Given the description of an element on the screen output the (x, y) to click on. 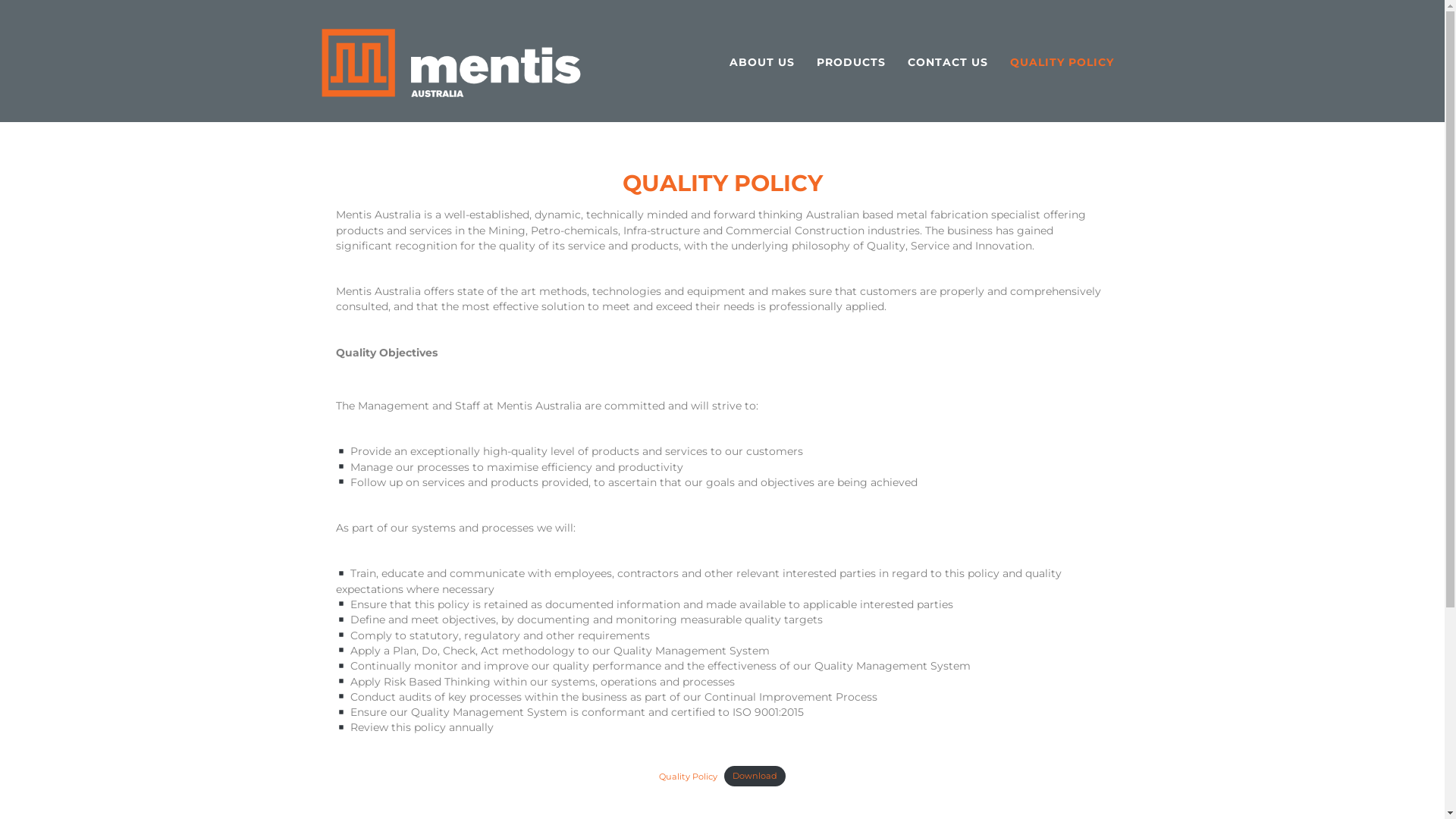
QUALITY POLICY Element type: text (1061, 61)
CONTACT US Element type: text (946, 61)
Mentis Australia - White Wordiing 500x138 Element type: hover (450, 62)
PRODUCTS Element type: text (850, 61)
Download Element type: text (753, 775)
ABOUT US Element type: text (761, 61)
Quality Policy Element type: text (687, 775)
